Given the description of an element on the screen output the (x, y) to click on. 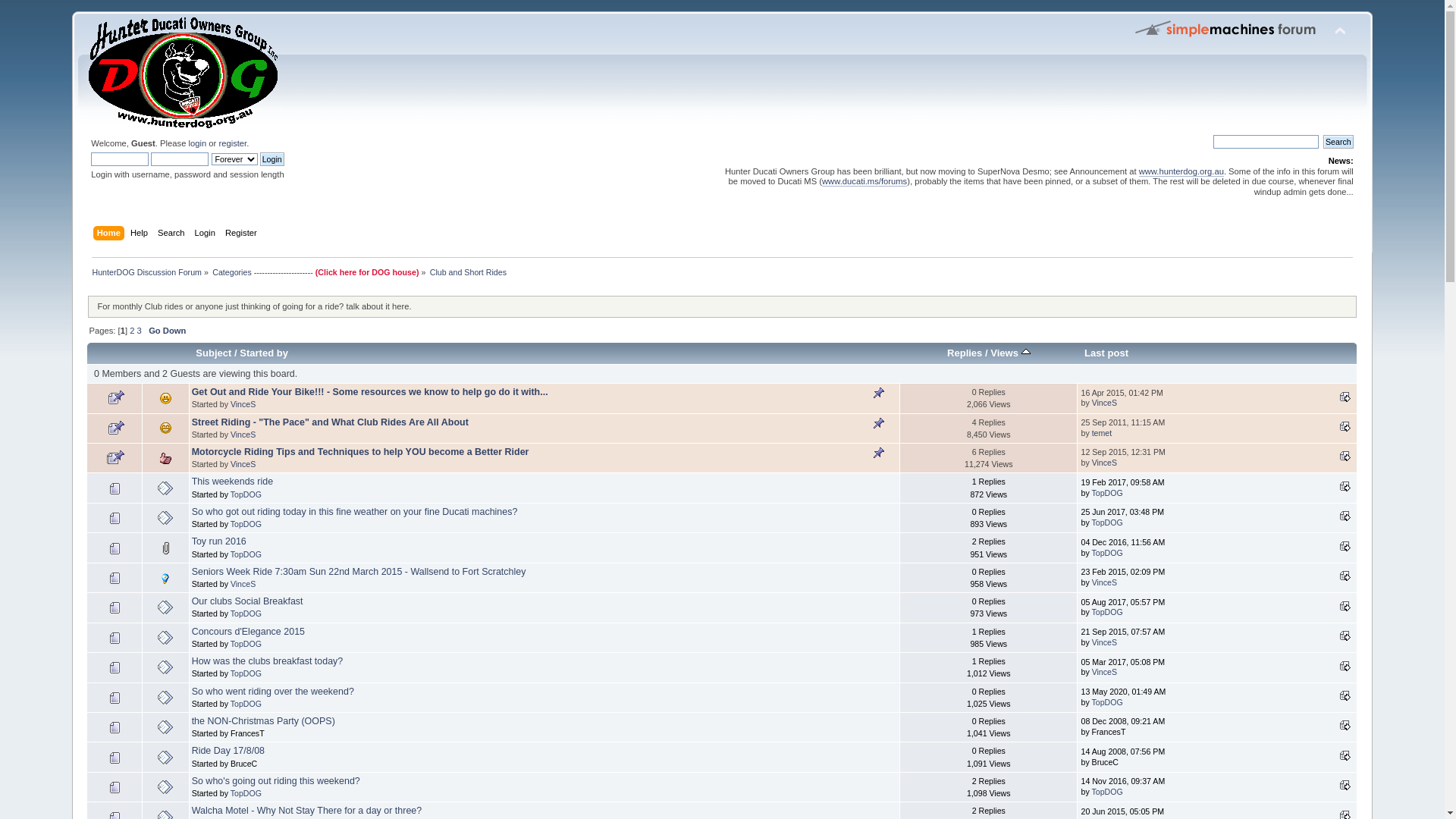
Last post Element type: hover (1344, 515)
TopDOG Element type: text (245, 553)
TopDOG Element type: text (245, 703)
Last post Element type: hover (1344, 695)
Last post Element type: hover (1344, 635)
TopDOG Element type: text (1106, 552)
VinceS Element type: text (1104, 462)
Search Element type: text (172, 233)
Walcha Motel - Why Not Stay There for a day or three? Element type: text (306, 810)
Last post Element type: hover (1344, 575)
VinceS Element type: text (1104, 671)
Our clubs Social Breakfast Element type: text (247, 601)
Last post Element type: hover (1344, 605)
temet Element type: text (1102, 432)
Subject Element type: text (213, 352)
the NON-Christmas Party (OOPS) Element type: text (263, 720)
Ride Day 17/8/08 Element type: text (227, 750)
Concours d'Elegance 2015 Element type: text (247, 631)
Views Element type: text (1009, 352)
TopDOG Element type: text (245, 643)
So who went riding over the weekend? Element type: text (272, 691)
Go Down Element type: text (166, 330)
Last post Element type: hover (1344, 396)
Replies Element type: text (964, 352)
VinceS Element type: text (242, 403)
VinceS Element type: text (1104, 581)
Toy run 2016 Element type: text (218, 541)
Last post Element type: hover (1344, 754)
Last post Element type: hover (1344, 724)
TopDOG Element type: text (245, 523)
TopDOG Element type: text (1106, 611)
Club and Short Rides Element type: text (467, 271)
Register Element type: text (242, 233)
Last post Element type: hover (1344, 455)
HunterDOG Discussion Forum Element type: text (146, 271)
Search Element type: text (1338, 141)
www.ducati.ms/forums Element type: text (864, 181)
TopDOG Element type: text (245, 792)
Help Element type: text (140, 233)
VinceS Element type: text (242, 583)
Categories ----------------------  Element type: text (263, 271)
VinceS Element type: text (242, 463)
Last post Element type: hover (1344, 784)
register Element type: text (232, 142)
(Click here for DOG house) Element type: text (367, 271)
Last post Element type: hover (1344, 485)
Last post Element type: hover (1344, 425)
So who's going out riding this weekend? Element type: text (275, 780)
TopDOG Element type: text (1106, 492)
TopDOG Element type: text (1106, 522)
Last post Element type: hover (1344, 665)
TopDOG Element type: text (245, 672)
3 Element type: text (139, 330)
Home Element type: text (110, 233)
TopDOG Element type: text (245, 493)
TopDOG Element type: text (1106, 701)
How was the clubs breakfast today? Element type: text (267, 660)
Started by Element type: text (263, 352)
Login Element type: text (206, 233)
Street Riding - "The Pace" and What Club Rides Are All About Element type: text (329, 422)
TopDOG Element type: text (1106, 791)
This weekends ride Element type: text (232, 481)
Login Element type: text (272, 159)
2 Element type: text (131, 330)
VinceS Element type: text (242, 434)
Shrink or expand the header. Element type: hover (1339, 31)
TopDOG Element type: text (245, 613)
Last post Element type: text (1106, 352)
VinceS Element type: text (1104, 402)
login Element type: text (197, 142)
Simple Machines Forum Element type: hover (1226, 27)
Last post Element type: hover (1344, 545)
VinceS Element type: text (1104, 641)
www.hunterdog.org.au Element type: text (1181, 171)
